Given the description of an element on the screen output the (x, y) to click on. 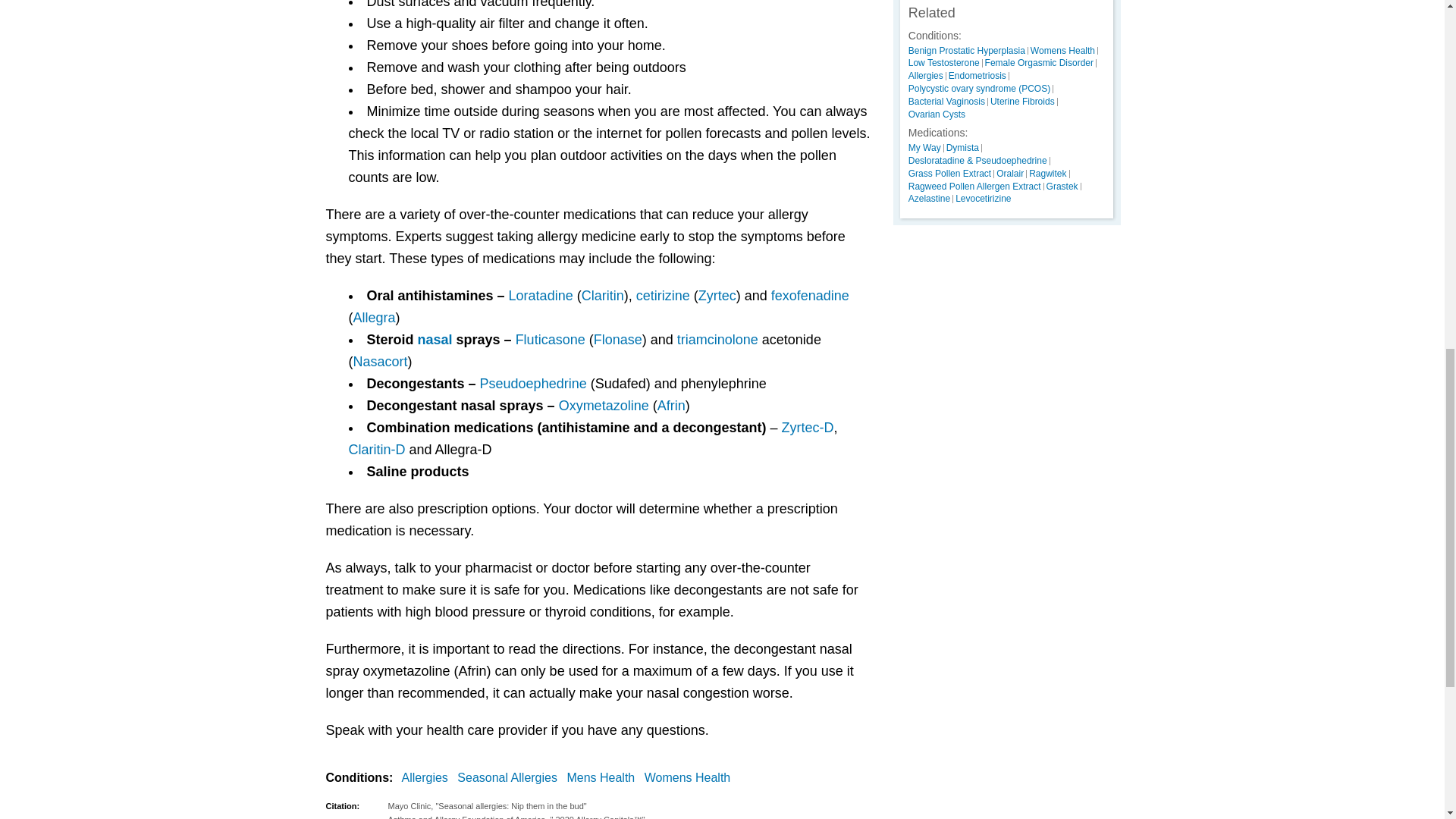
Allegra (374, 317)
Allergies (427, 777)
cetirizine (663, 295)
Claritin (602, 295)
triamcinolone (717, 339)
nasal (434, 339)
Oxymetazoline (604, 405)
Flonase (618, 339)
Zyrtec (717, 295)
fexofenadine (809, 295)
